Given the description of an element on the screen output the (x, y) to click on. 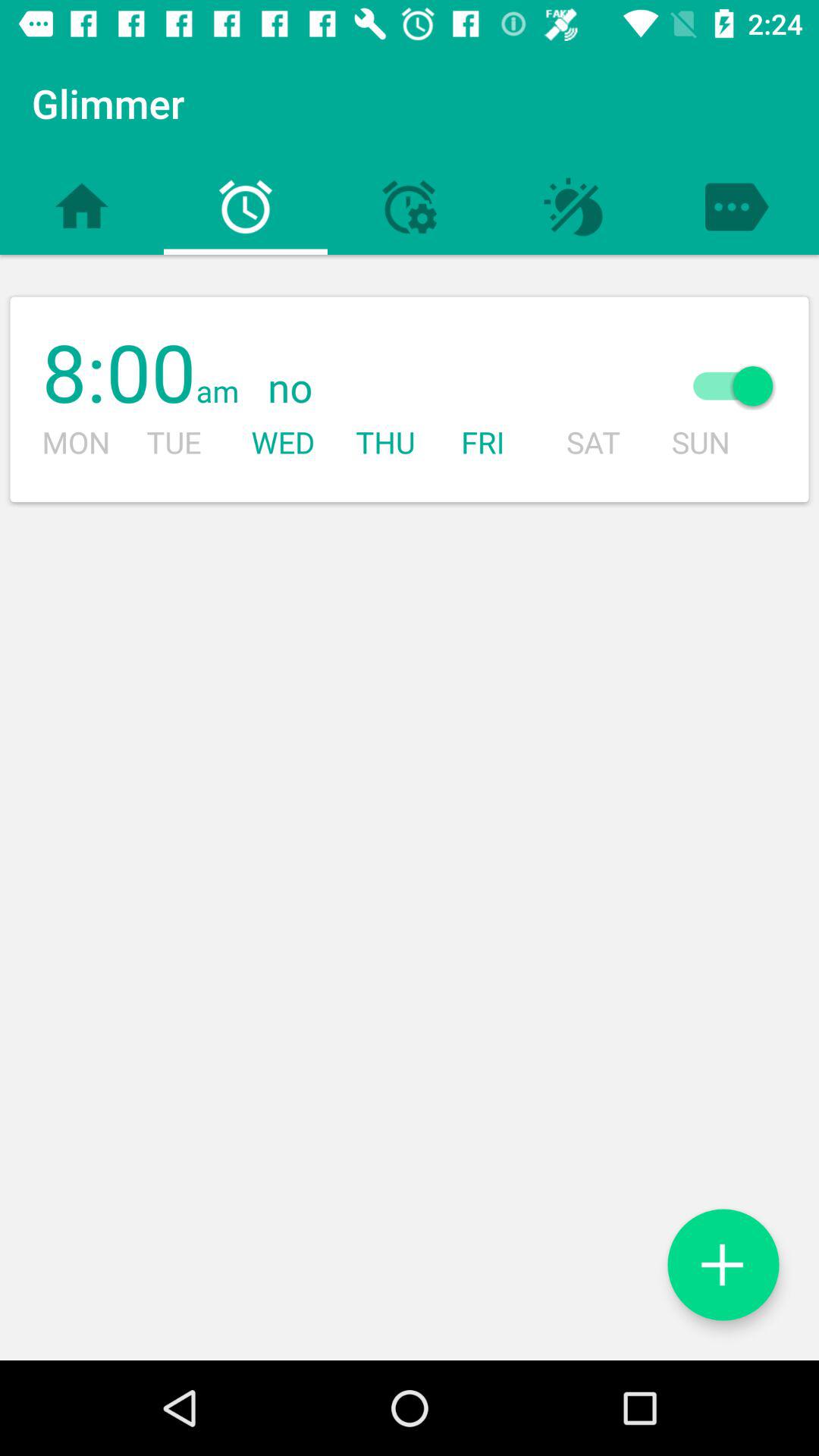
open the item next to the sun item (443, 388)
